Given the description of an element on the screen output the (x, y) to click on. 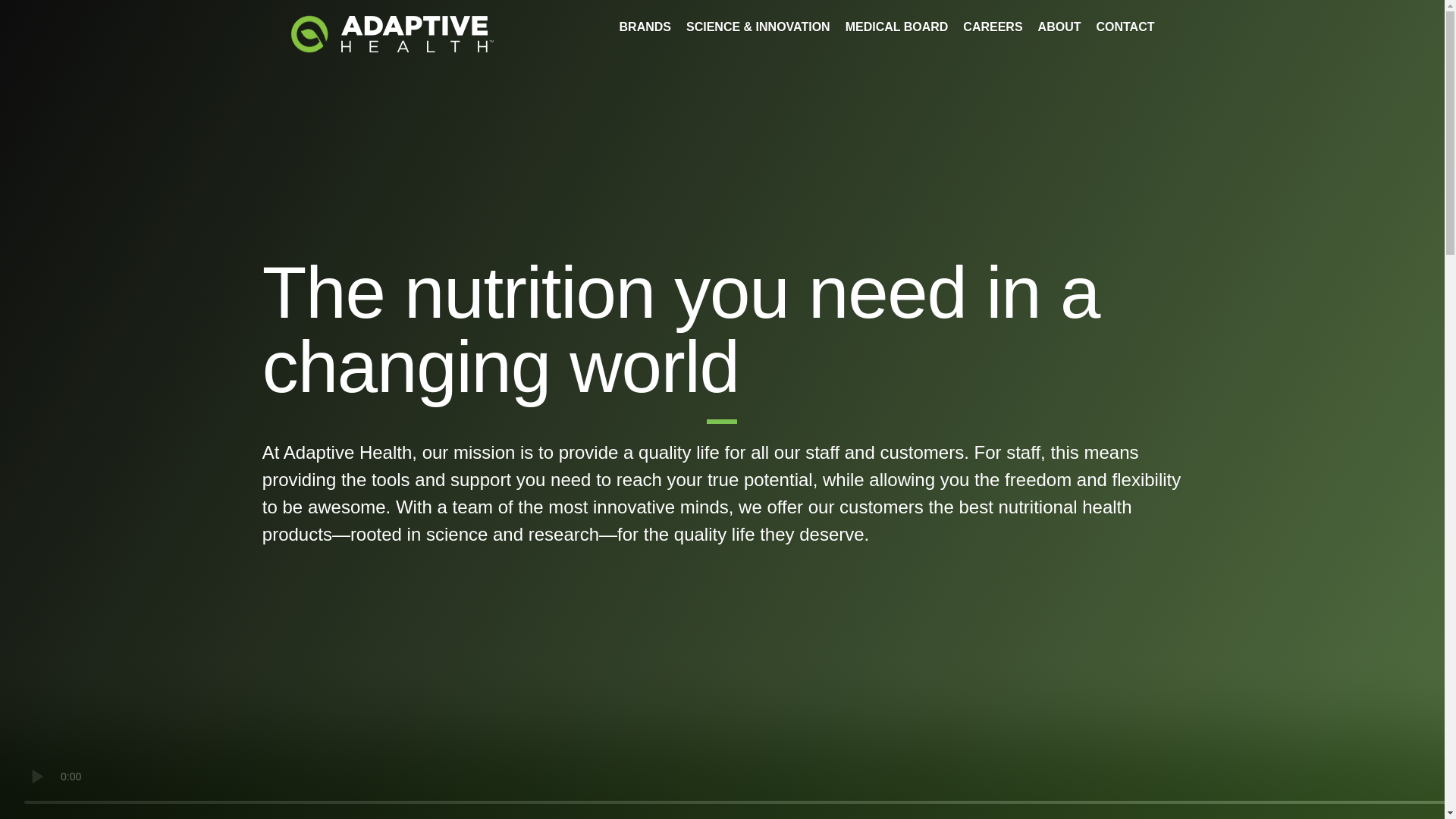
MEDICAL BOARD (897, 34)
CAREERS (992, 34)
BRANDS (645, 34)
ABOUT (1059, 34)
CONTACT (1125, 34)
